Given the description of an element on the screen output the (x, y) to click on. 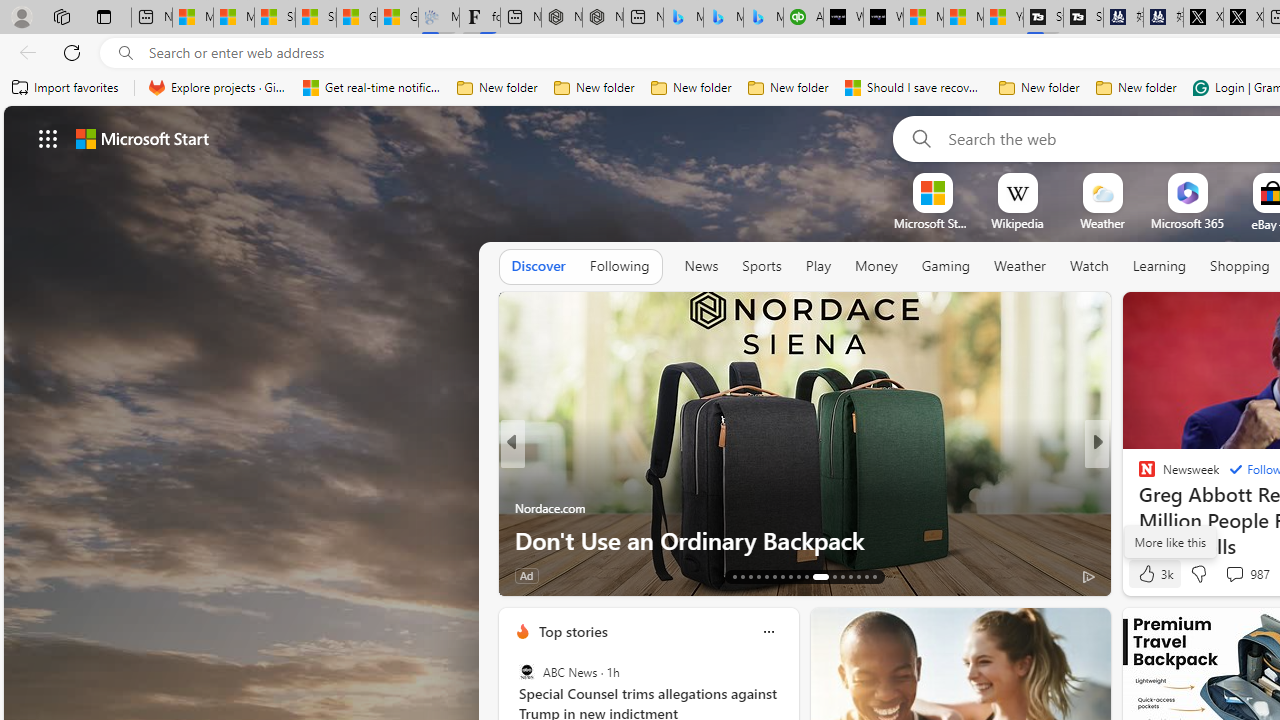
Ad (1142, 575)
AutomationID: tab-29 (874, 576)
AutomationID: tab-22 (806, 576)
Weather (1020, 265)
Learning (1159, 265)
Ad Choice (479, 575)
Play (817, 265)
Money (875, 265)
View comments 251 Comment (11, 575)
New folder (1136, 88)
Discover (538, 265)
The Independent (1138, 475)
AutomationID: tab-17 (765, 576)
